Given the description of an element on the screen output the (x, y) to click on. 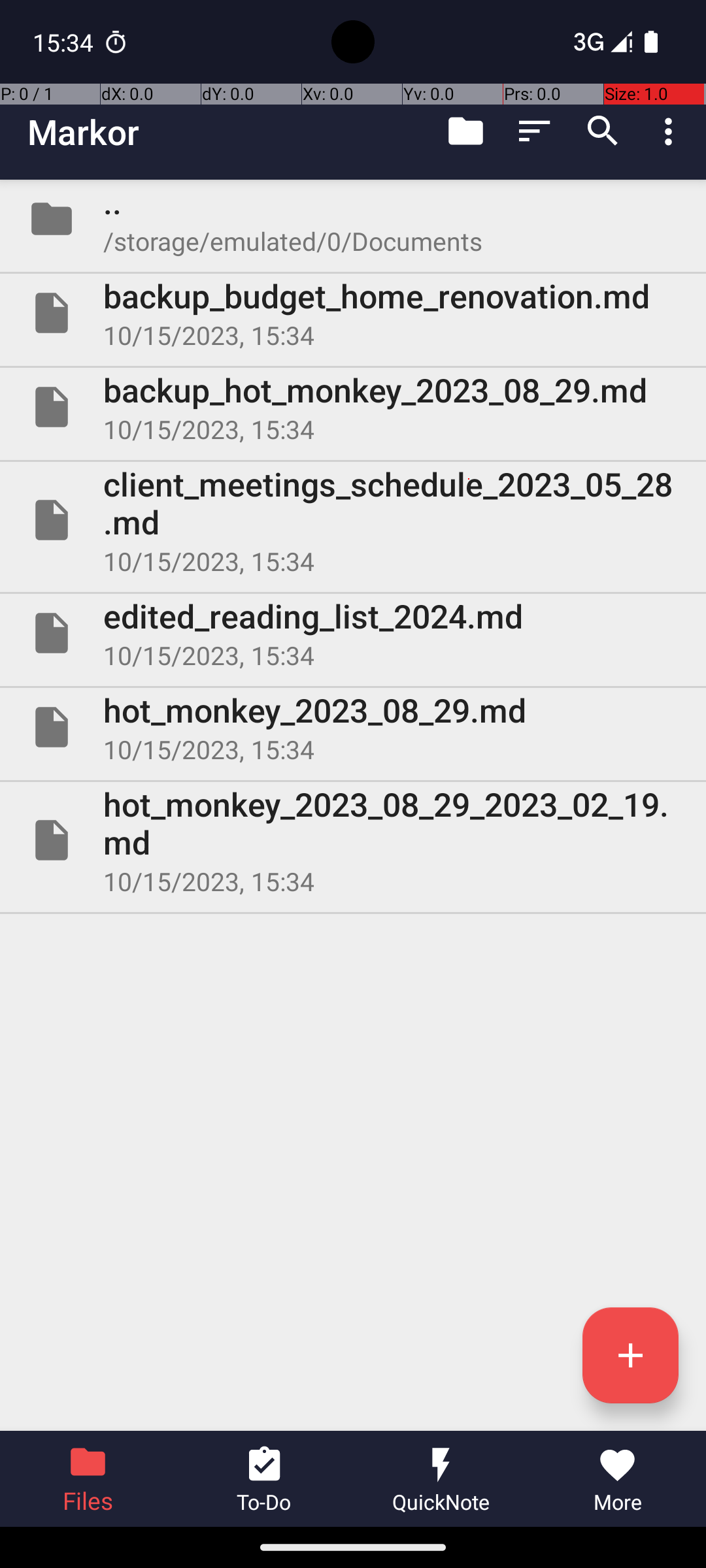
File backup_budget_home_renovation.md  Element type: android.widget.LinearLayout (353, 312)
File backup_hot_monkey_2023_08_29.md  Element type: android.widget.LinearLayout (353, 406)
File client_meetings_schedule_2023_05_28.md  Element type: android.widget.LinearLayout (353, 519)
File edited_reading_list_2024.md  Element type: android.widget.LinearLayout (353, 632)
File hot_monkey_2023_08_29.md  Element type: android.widget.LinearLayout (353, 726)
File hot_monkey_2023_08_29_2023_02_19.md  Element type: android.widget.LinearLayout (353, 840)
